Given the description of an element on the screen output the (x, y) to click on. 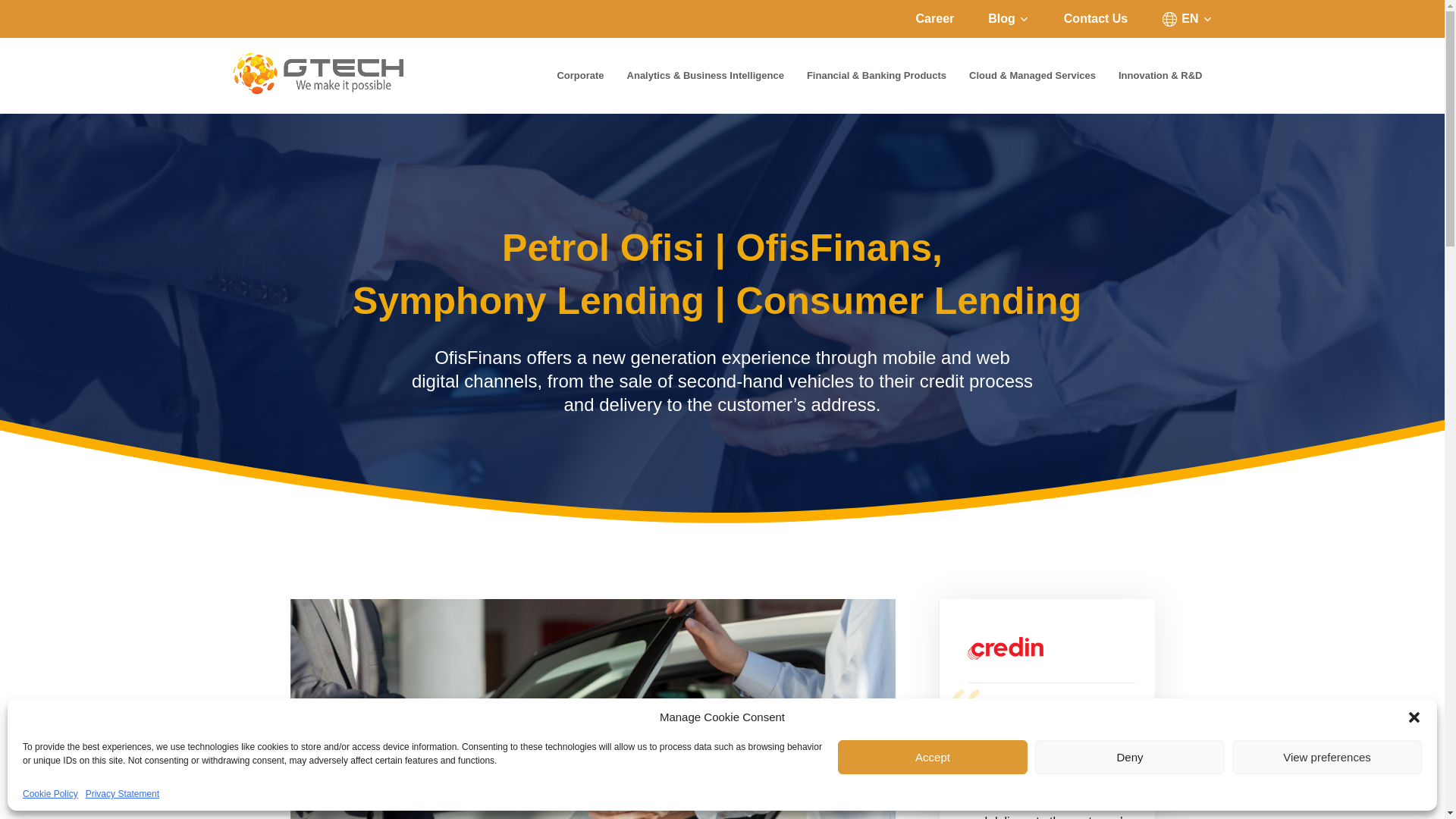
Contact Us (1095, 18)
Career (935, 18)
Blog (1008, 18)
Corporate (579, 75)
